Given the description of an element on the screen output the (x, y) to click on. 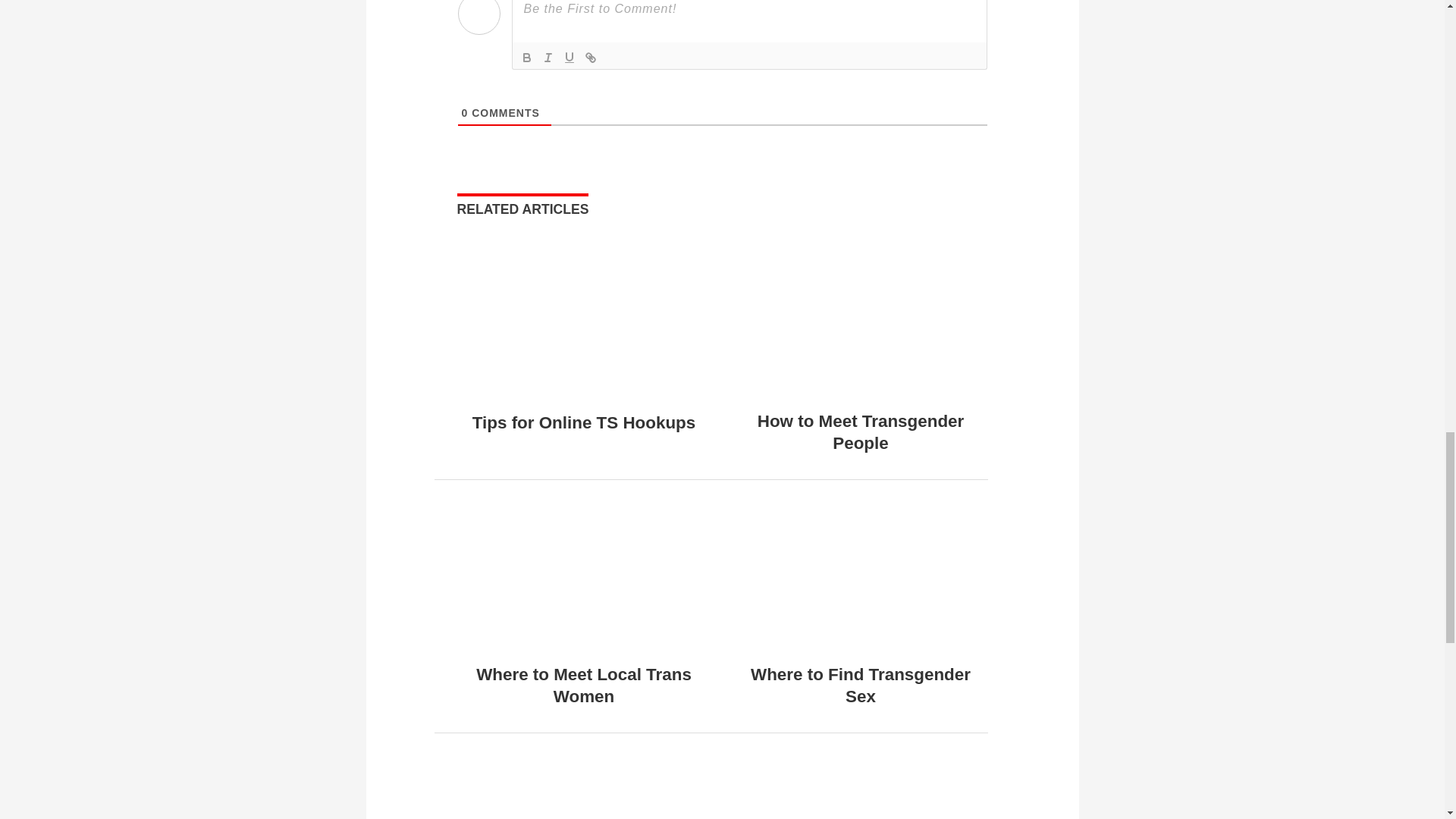
Where to Find Transgender Sex (860, 641)
Where to Meet Local Trans Women (583, 685)
Bold (526, 57)
Where to Meet Local Trans Women (583, 641)
Link (589, 57)
How to Meet Transgender People (860, 388)
Underline (568, 57)
Where to Find Transgender Sex (860, 685)
Tips for Online TS Hookups (583, 388)
How to Meet Transgender People (860, 432)
Tips for Online TS Hookups (583, 422)
Italic (547, 57)
0 (464, 112)
